Given the description of an element on the screen output the (x, y) to click on. 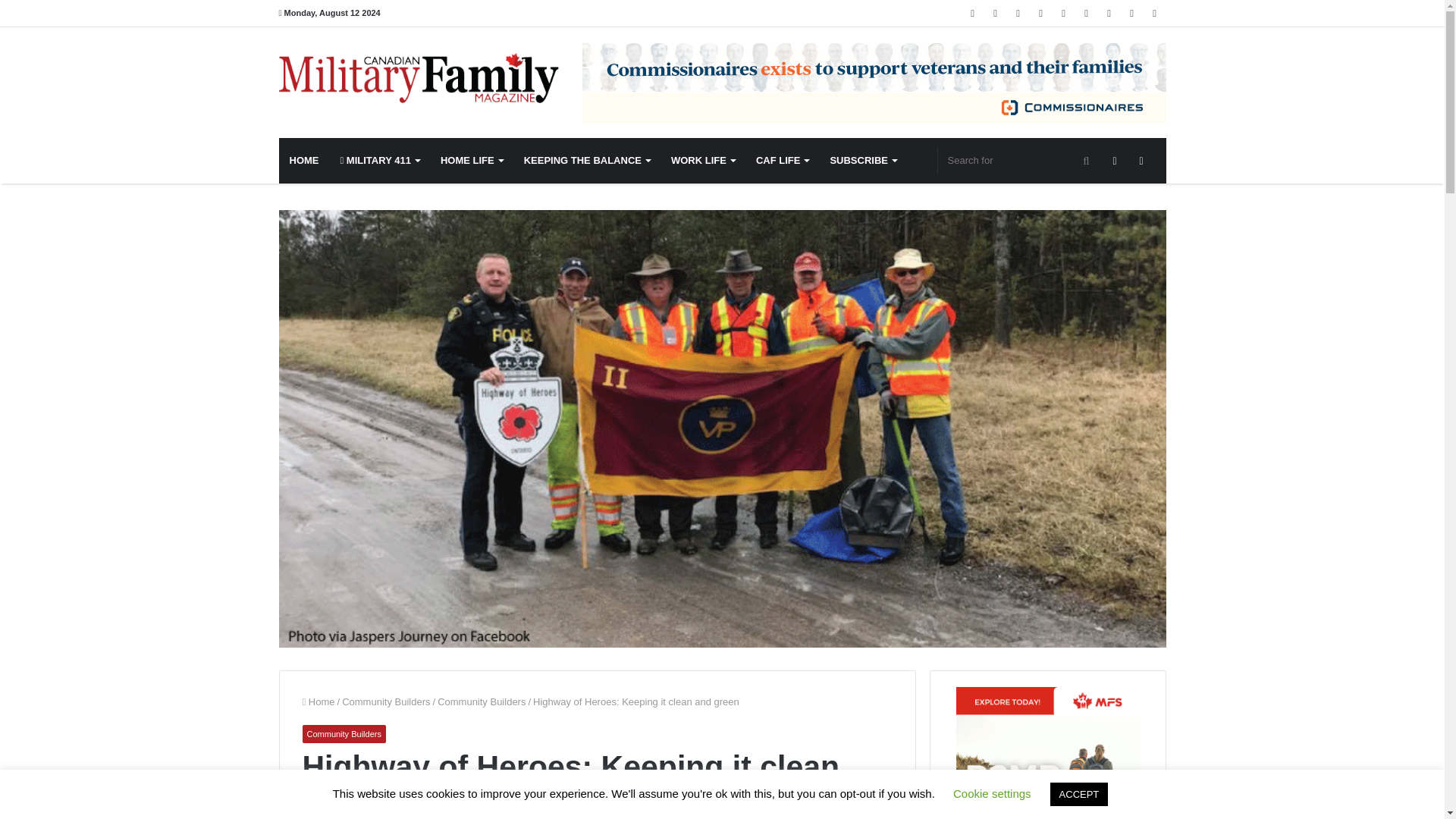
KEEPING THE BALANCE (587, 160)
MILITARY 411 (379, 160)
WORK LIFE (703, 160)
HOME LIFE (471, 160)
HOME (304, 160)
Canadian Military Family Magazine (419, 78)
Search for (1018, 160)
